Given the description of an element on the screen output the (x, y) to click on. 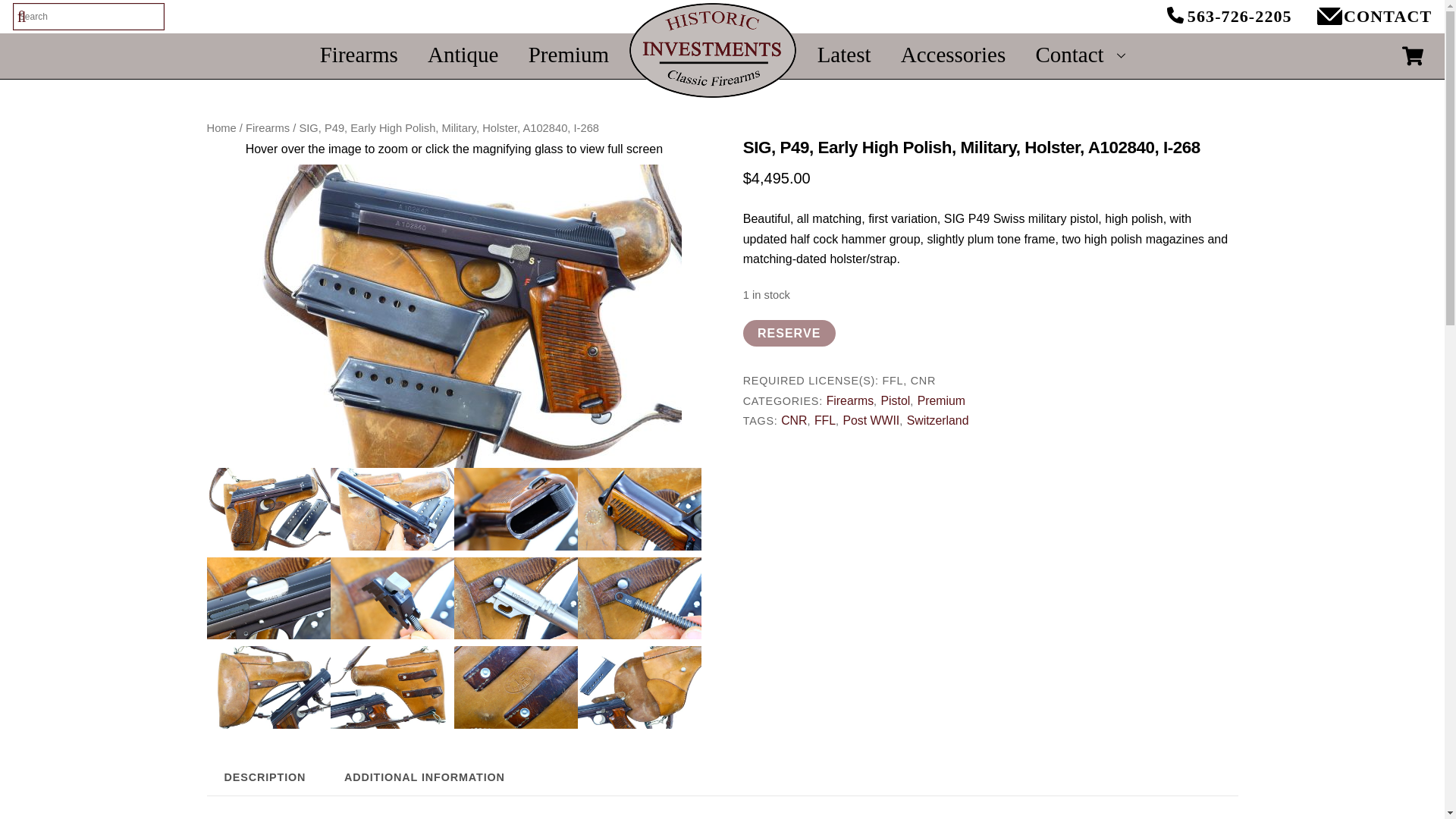
CONTACT (1330, 24)
Antique (463, 53)
Premium (568, 53)
Premium (941, 400)
Firearms (357, 53)
FFL (824, 420)
Home (220, 128)
Latest (843, 53)
Cart (1411, 55)
Firearms (267, 128)
